Given the description of an element on the screen output the (x, y) to click on. 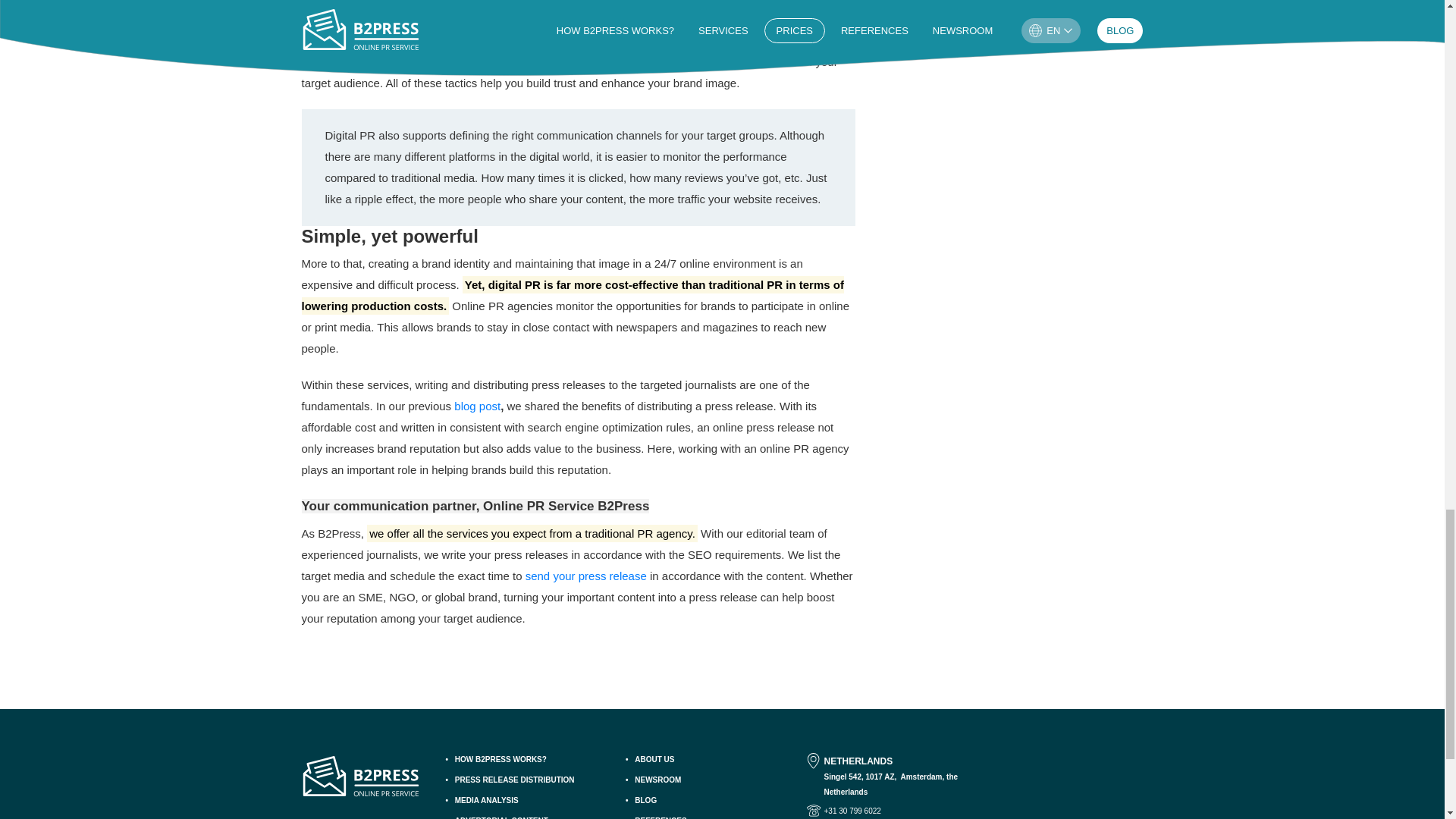
blog post (477, 405)
MEDIA ANALYSIS (529, 800)
HOW B2PRESS WORKS? (529, 759)
ADVERTORIAL CONTENT (529, 817)
send your press release (585, 575)
PRESS RELEASE DISTRIBUTION (529, 779)
